Given the description of an element on the screen output the (x, y) to click on. 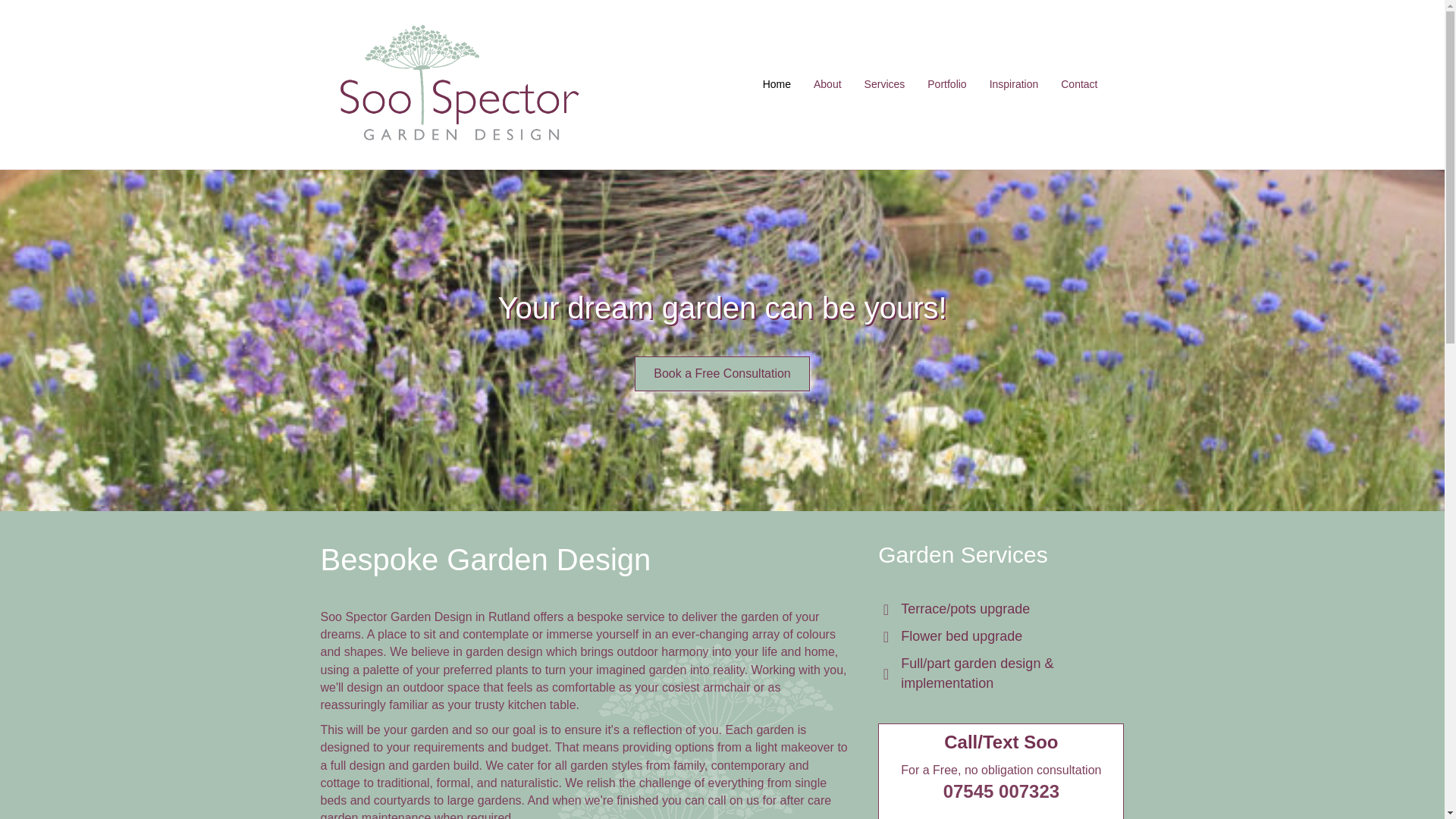
Your dream garden can be yours! (721, 307)
Services (885, 85)
Book a Free Consultation (721, 373)
Contact (1078, 85)
Inspiration (1013, 85)
Portfolio (945, 85)
Home (776, 85)
About (827, 85)
Your dream garden can be yours! (721, 307)
